Given the description of an element on the screen output the (x, y) to click on. 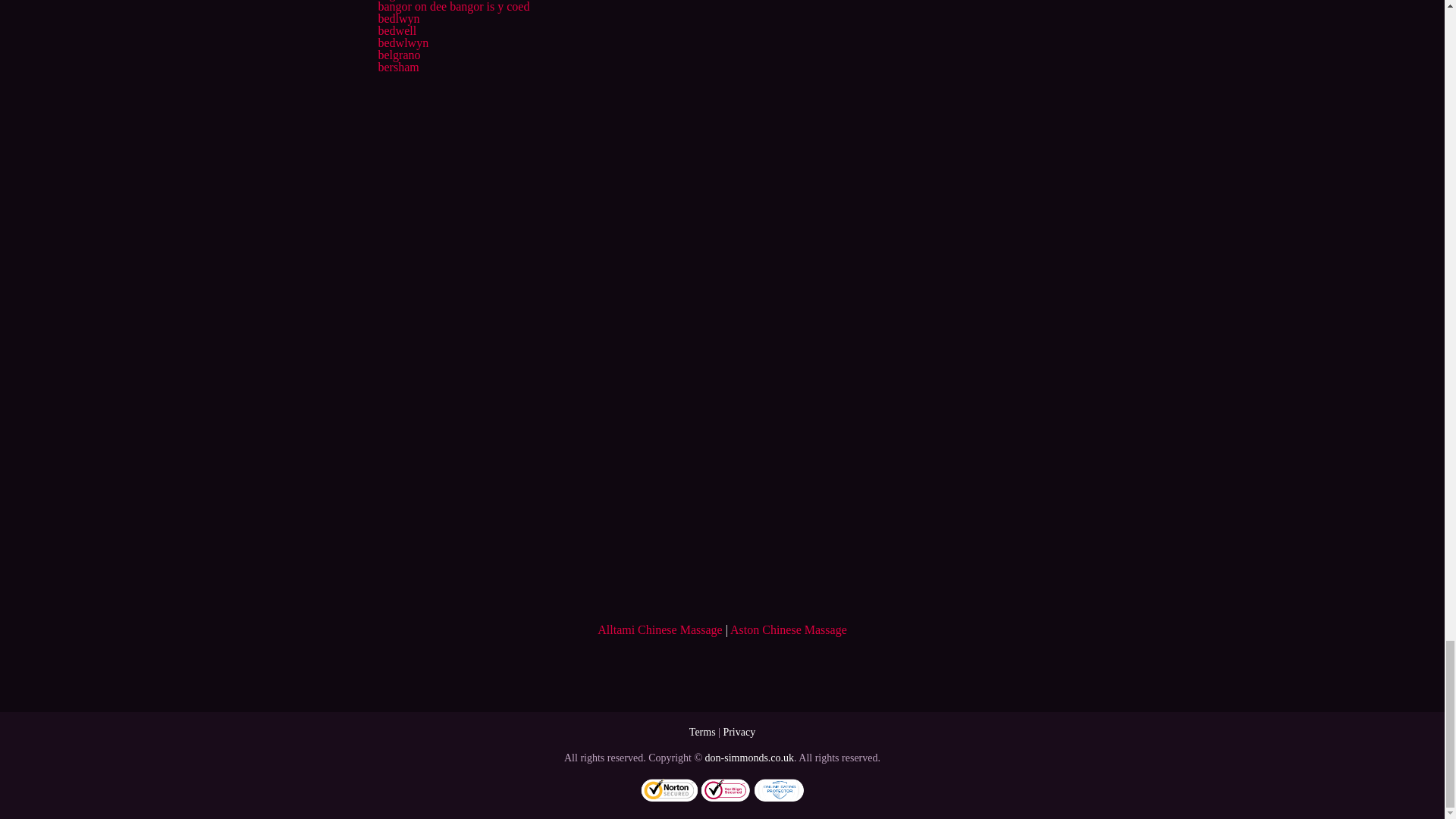
Terms (702, 731)
Privacy (738, 731)
belgrano (398, 54)
bangor on dee bangor is y coed (453, 6)
Alltami Chinese Massage (659, 629)
bedwlwyn (402, 42)
Terms (702, 731)
bersham (398, 66)
Aston Chinese Massage (788, 629)
don-simmonds.co.uk (748, 757)
Privacy (738, 731)
bedwell (396, 30)
bedlwyn (398, 18)
